Given the description of an element on the screen output the (x, y) to click on. 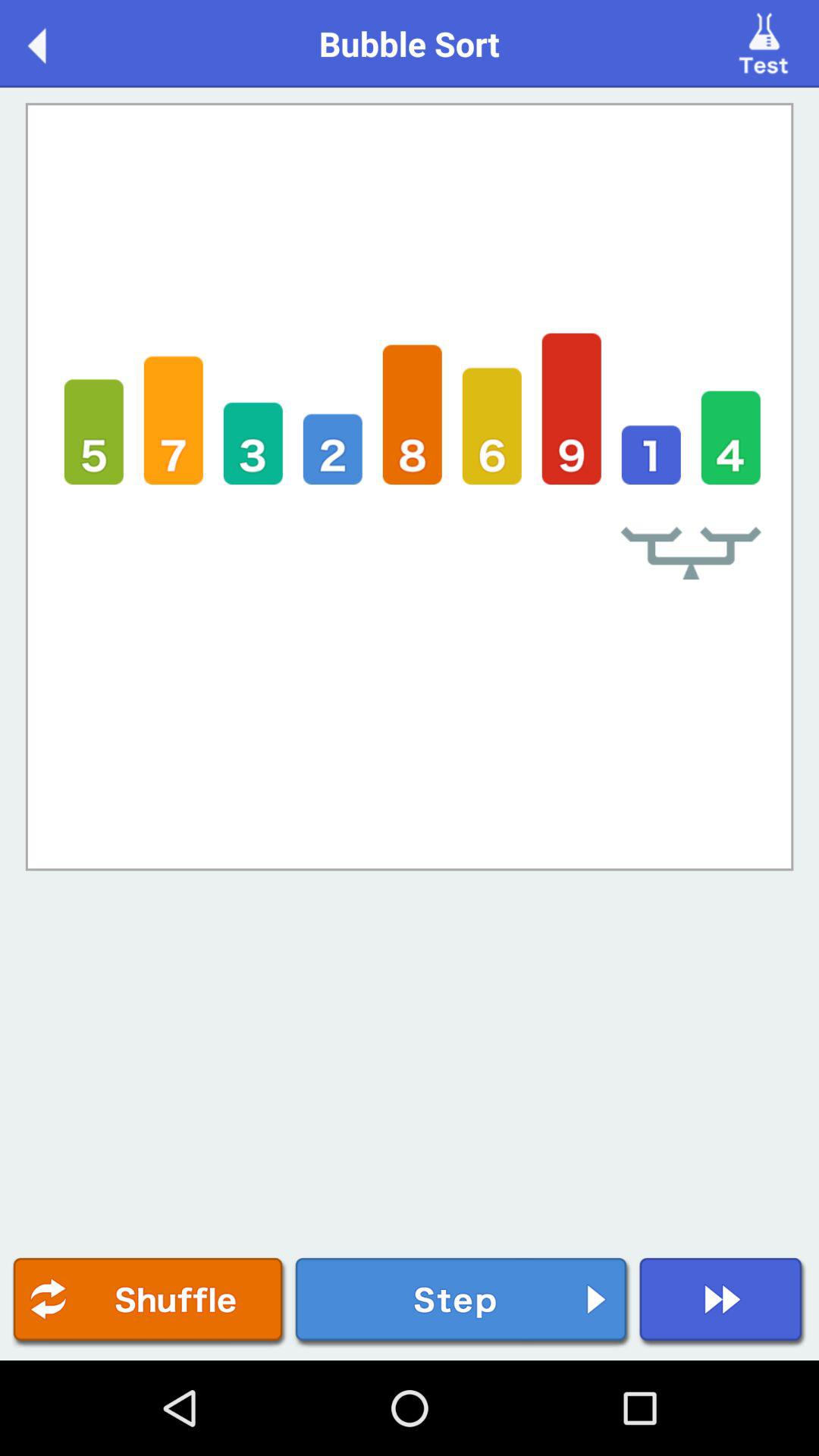
toggle shuffle option (149, 1302)
